Given the description of an element on the screen output the (x, y) to click on. 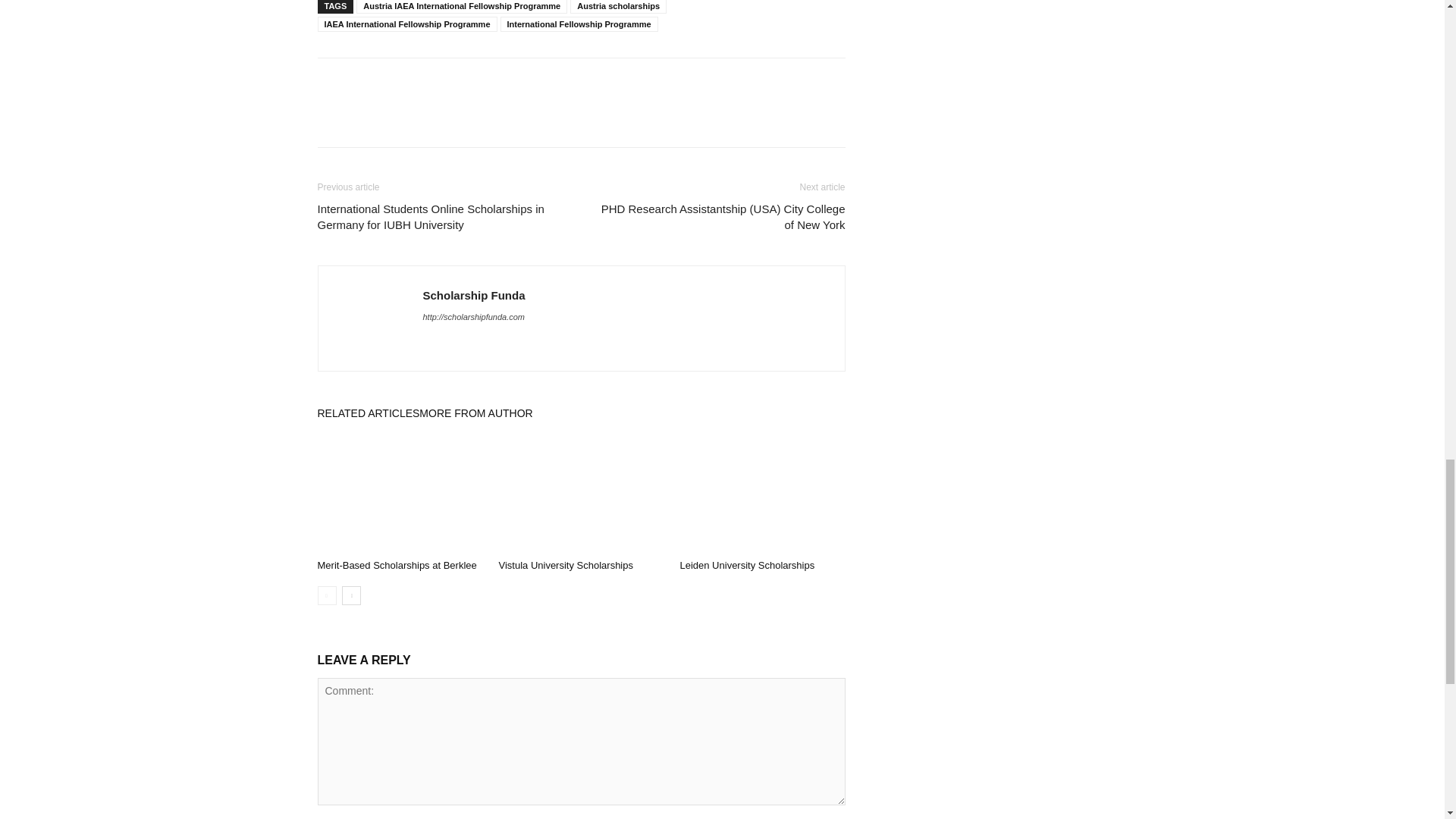
Leiden University Scholarships (761, 495)
Vistula University Scholarships (580, 495)
Leiden University Scholarships (746, 564)
Vistula University Scholarships (565, 564)
Merit-Based Scholarships at Berklee (396, 564)
Merit-Based Scholarships at Berklee (399, 495)
